Given the description of an element on the screen output the (x, y) to click on. 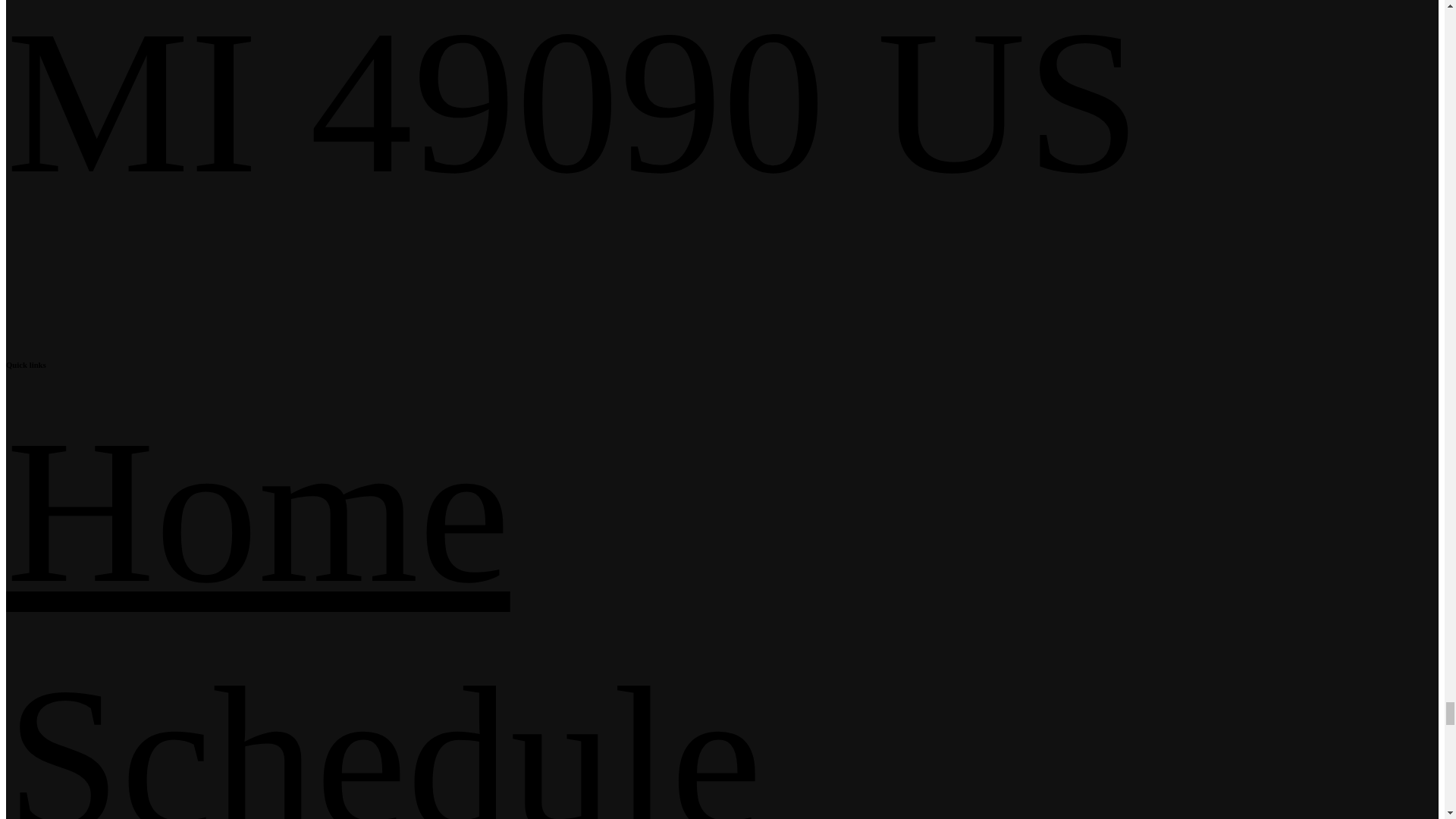
Schedule (383, 732)
Home (258, 511)
